Given the description of an element on the screen output the (x, y) to click on. 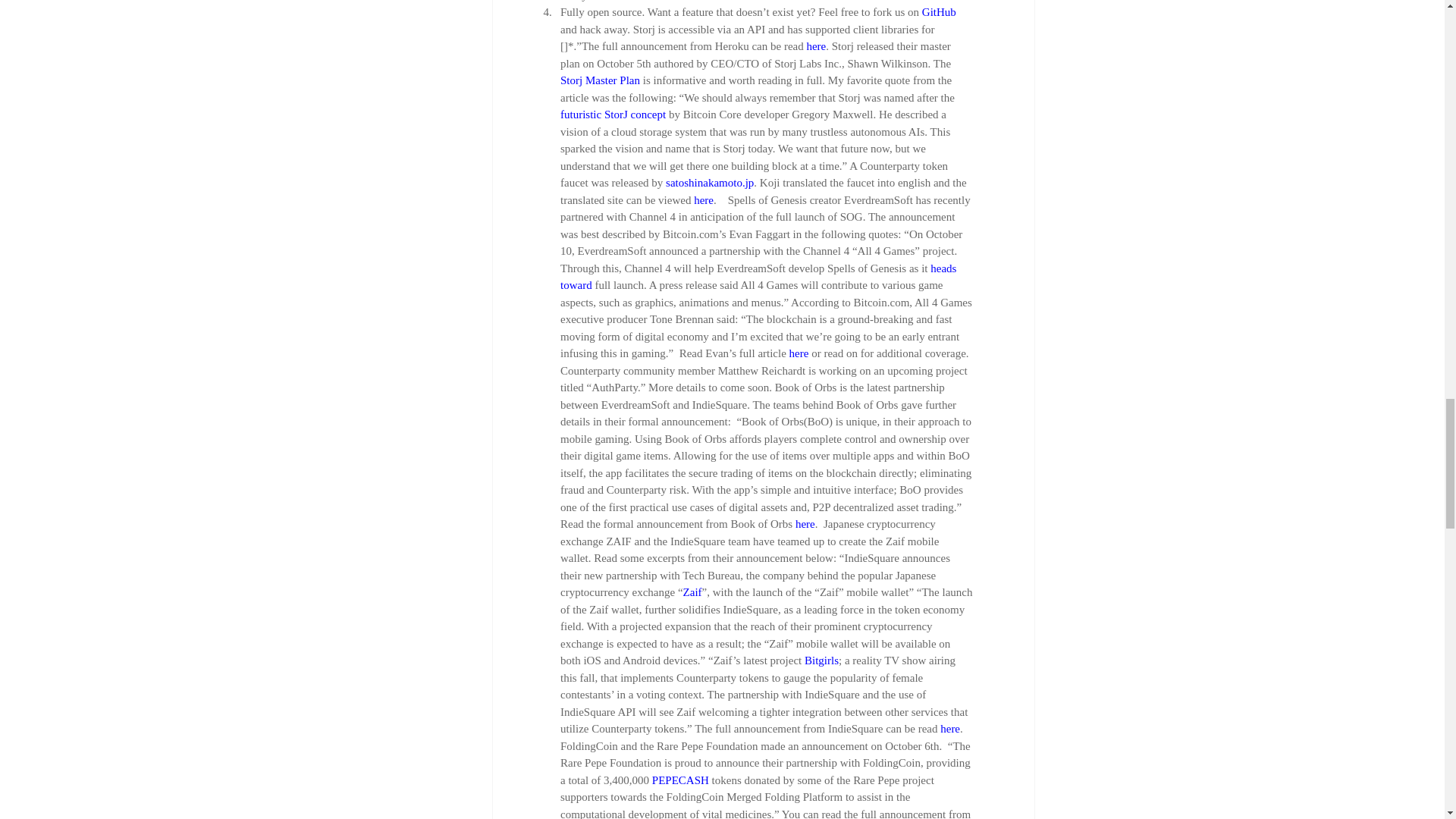
here (803, 523)
PEPECASH (678, 779)
satoshinakamoto.jp (709, 182)
here (949, 728)
futuristic StorJ concept (612, 114)
here (798, 353)
heads toward (758, 276)
Zaif (691, 592)
here (703, 200)
Storj Master Plan (599, 80)
